Given the description of an element on the screen output the (x, y) to click on. 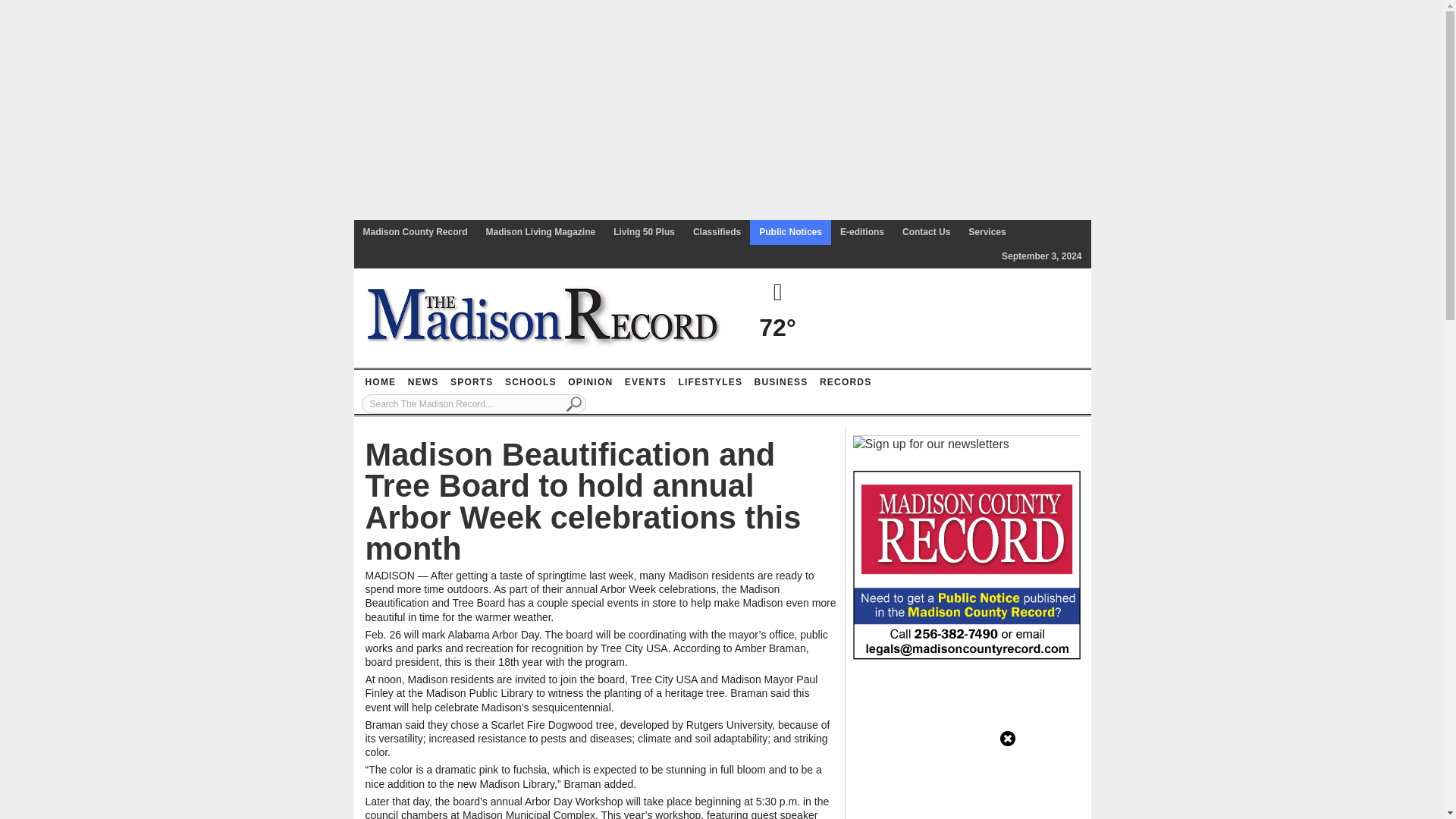
3rd party ad content (965, 746)
NEWS (423, 381)
RECORDS (845, 381)
Search The Madison Record... (473, 403)
Madison Living Magazine (541, 232)
Go (574, 403)
HOME (379, 381)
Living 50 Plus (644, 232)
Search The Madison Record... (473, 403)
Sign up for our newsletters (930, 443)
